Given the description of an element on the screen output the (x, y) to click on. 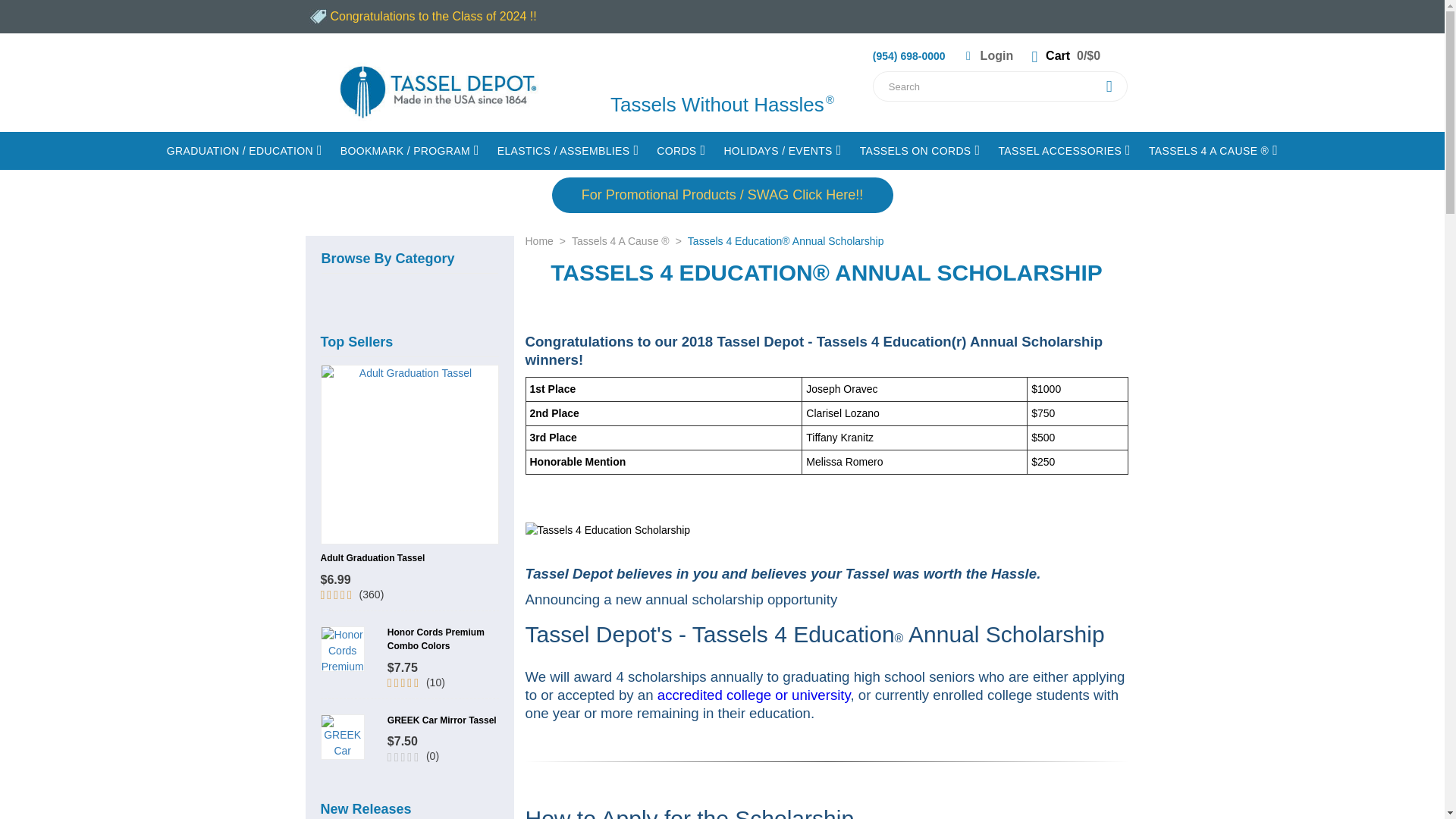
Login (986, 55)
Congratulations to the Class of 2024 !! (419, 15)
